Given the description of an element on the screen output the (x, y) to click on. 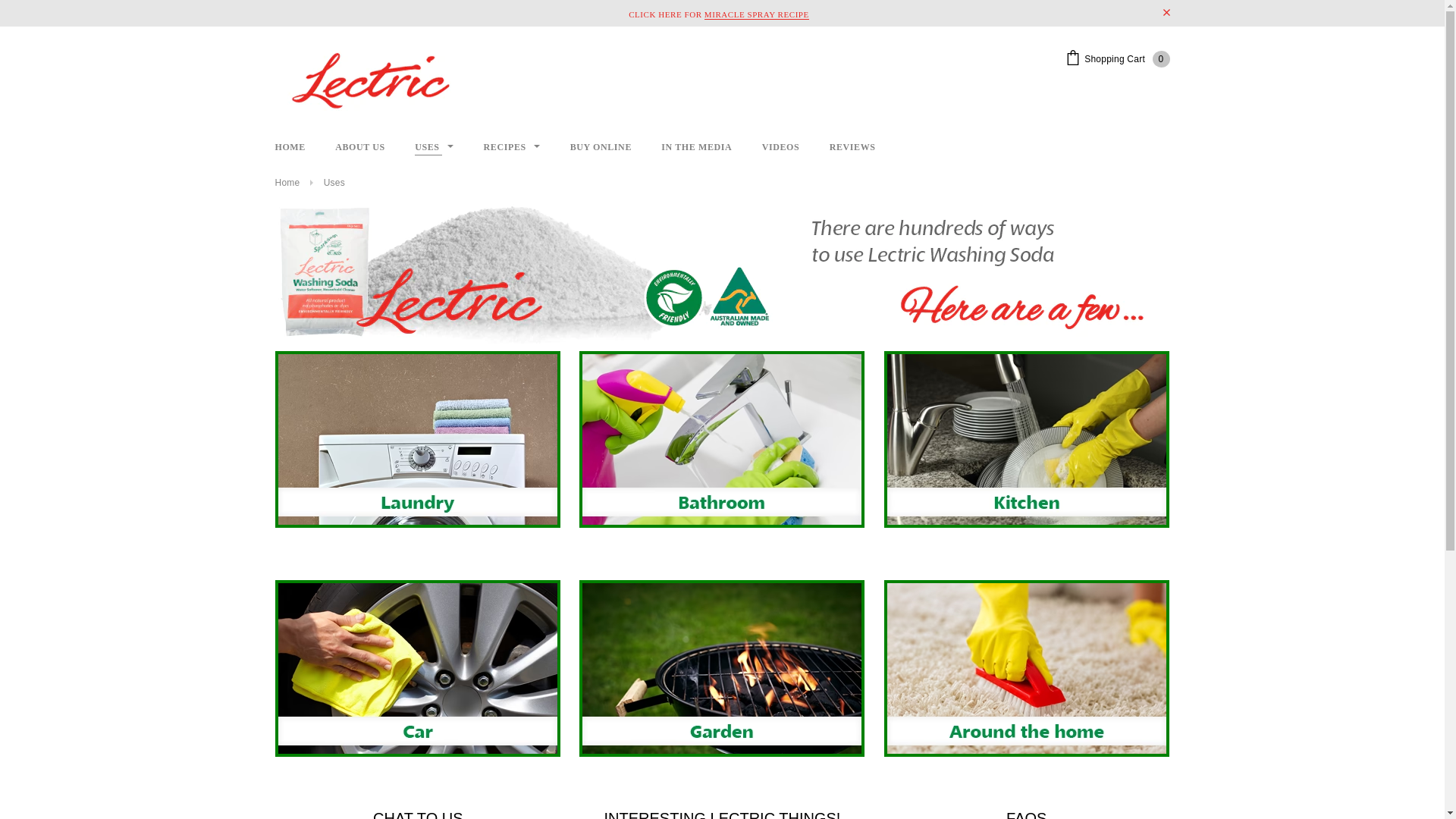
USES Element type: text (433, 146)
Home Element type: text (286, 182)
IN THE MEDIA Element type: text (696, 146)
Shopping Cart 0 Element type: text (1117, 58)
VIDEOS Element type: text (781, 146)
REVIEWS Element type: text (852, 146)
ABOUT US Element type: text (360, 146)
MIRACLE SPRAY RECIPE Element type: text (756, 14)
HOME Element type: text (289, 146)
RECIPES Element type: text (511, 146)
BUY ONLINE Element type: text (600, 146)
